Given the description of an element on the screen output the (x, y) to click on. 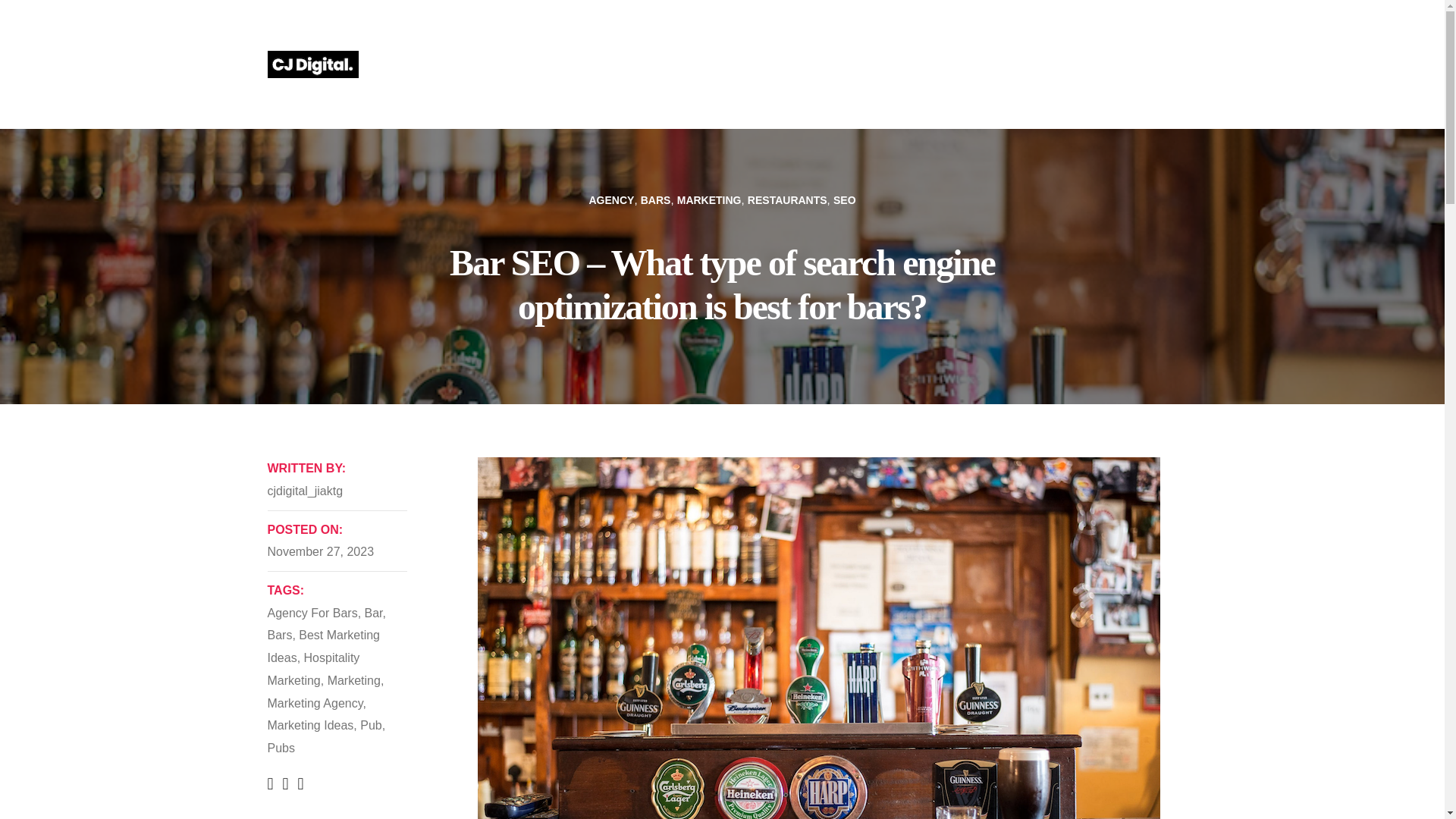
Blog (1045, 63)
Marketing Ideas (309, 725)
BARS (655, 200)
How we work (963, 63)
Bar (373, 612)
SEO (844, 200)
Marketing (353, 680)
RESTAURANTS (787, 200)
AGENCY (610, 200)
Bars (279, 634)
Our work (869, 63)
Best Marketing Ideas (323, 646)
Marketing Agency (314, 702)
MARKETING (709, 200)
Pub (370, 725)
